Given the description of an element on the screen output the (x, y) to click on. 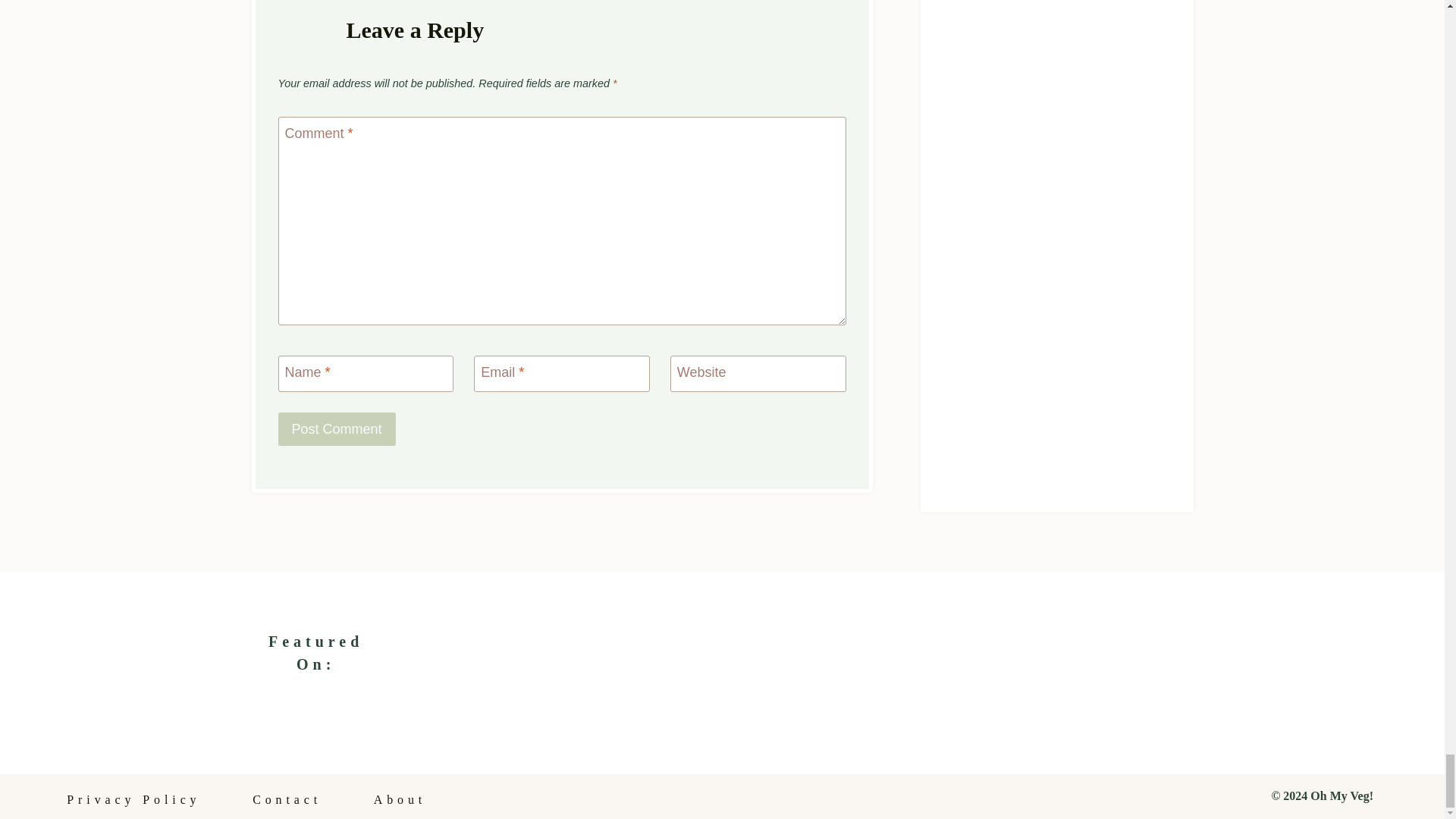
Post Comment (336, 429)
